Given the description of an element on the screen output the (x, y) to click on. 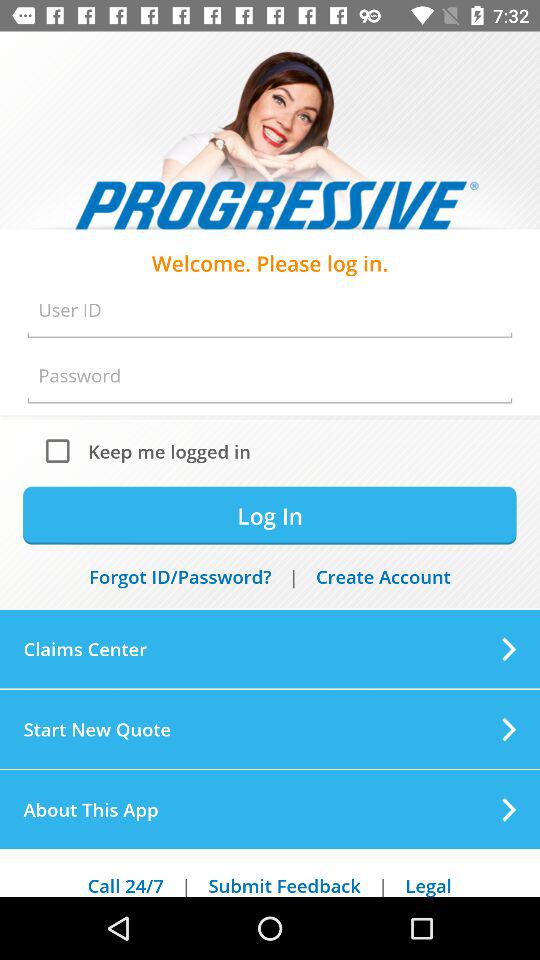
user id option (269, 310)
